Given the description of an element on the screen output the (x, y) to click on. 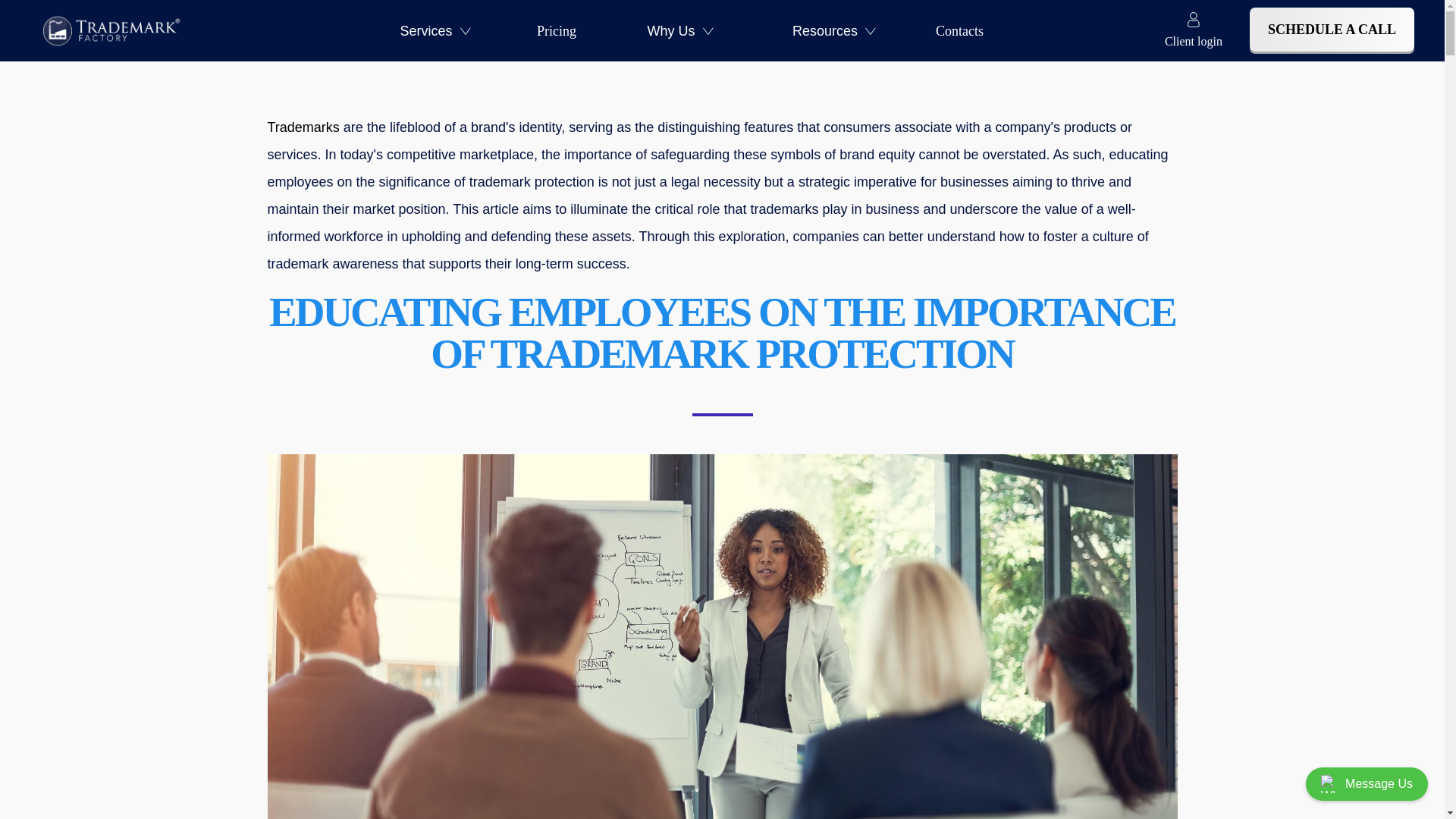
Client login (1193, 30)
Pricing (556, 31)
Trademarks (302, 127)
Contacts (960, 31)
SCHEDULE A CALL (1331, 29)
